Given the description of an element on the screen output the (x, y) to click on. 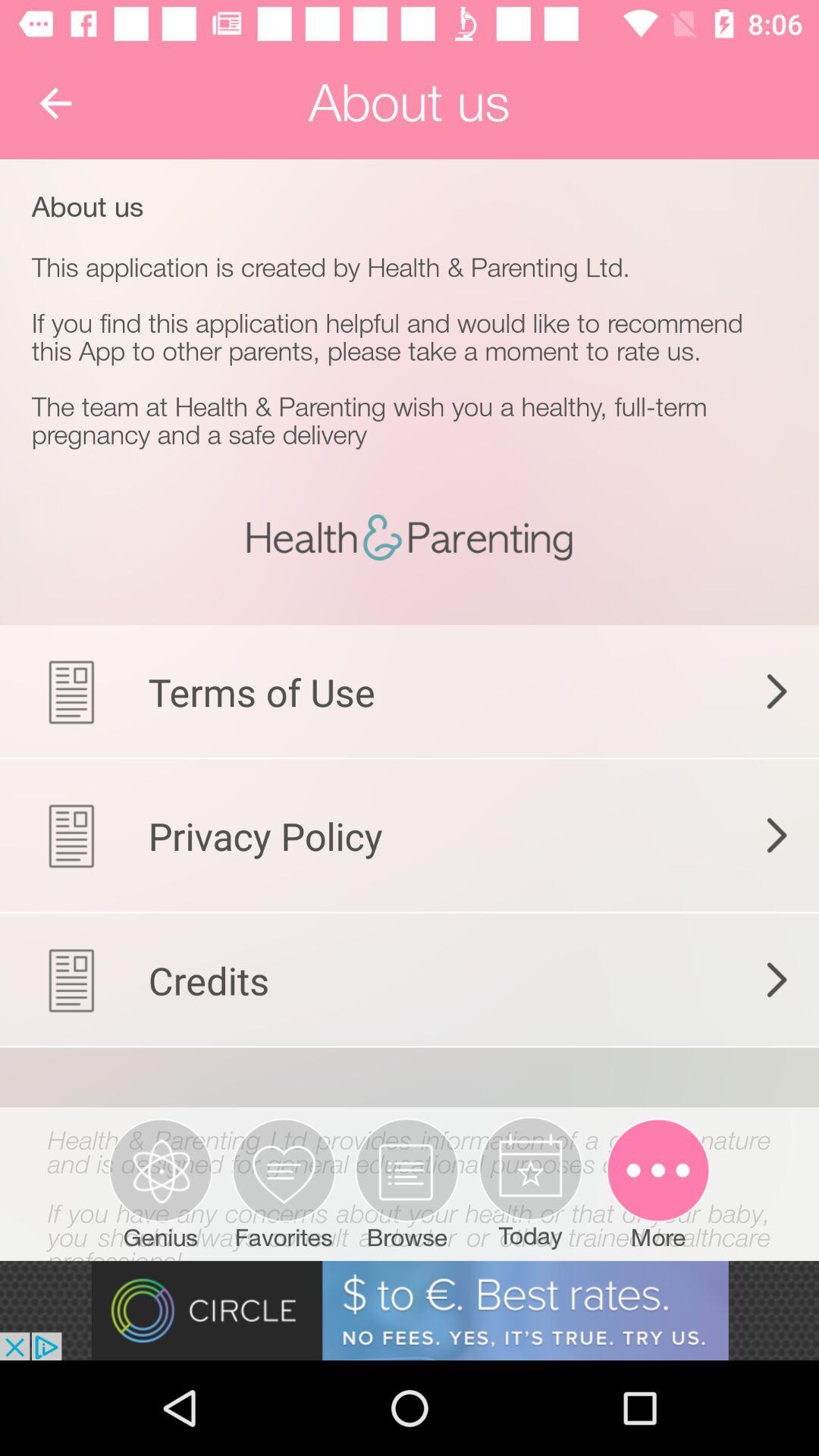
advertisement (409, 1310)
